Given the description of an element on the screen output the (x, y) to click on. 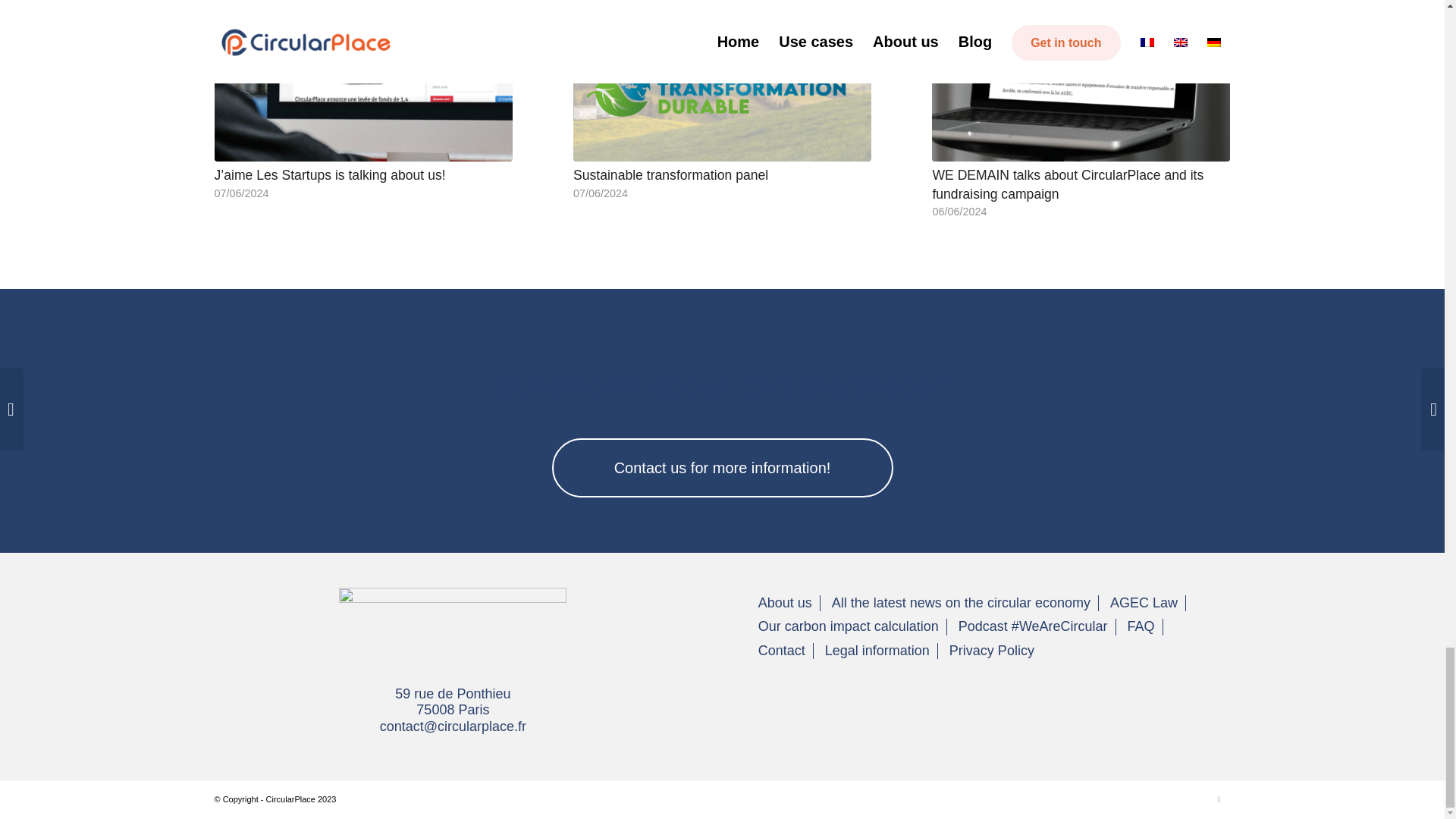
Sustainable transformation panel (670, 174)
